Given the description of an element on the screen output the (x, y) to click on. 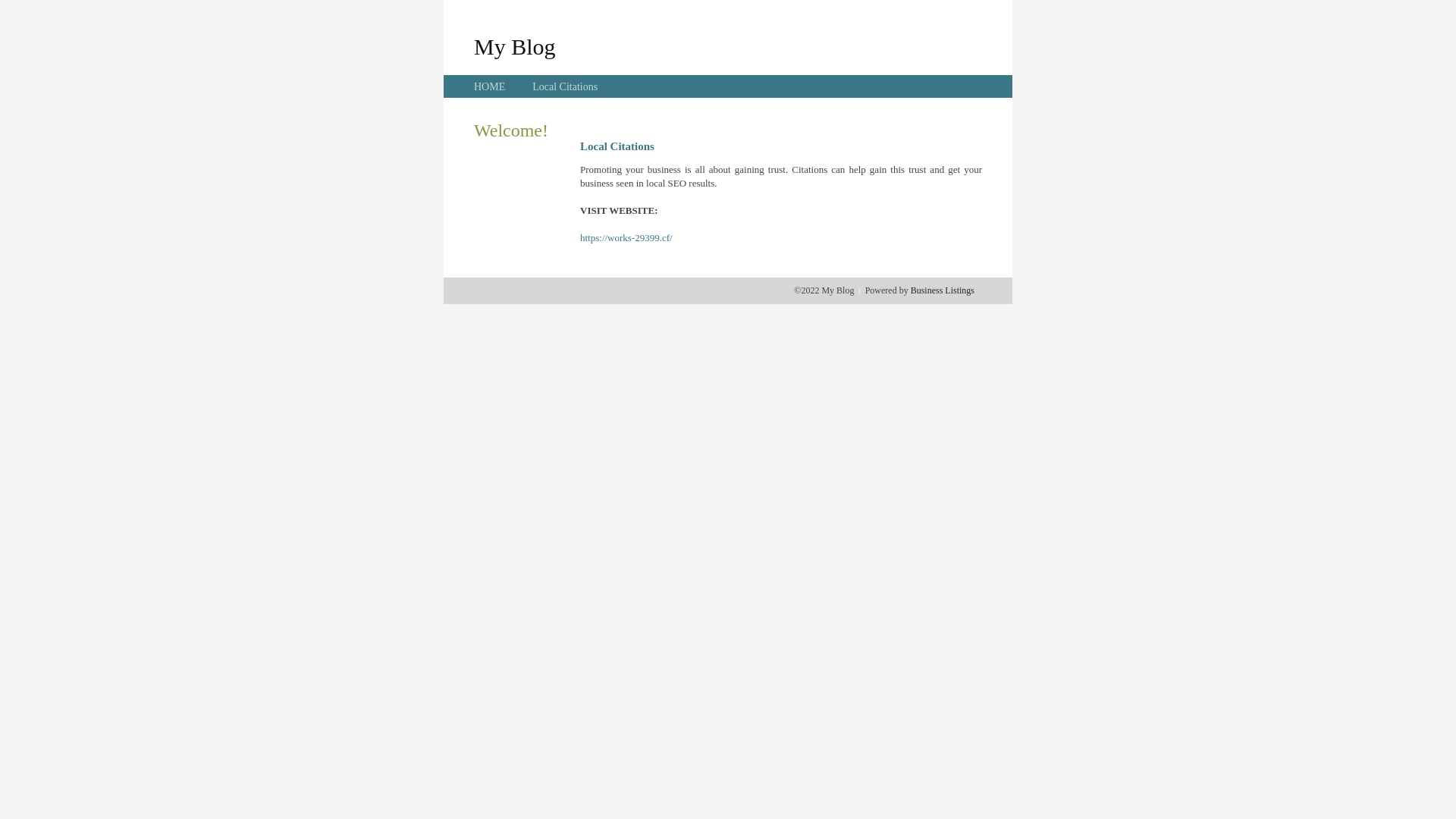
HOME Element type: text (489, 86)
My Blog Element type: text (514, 46)
Local Citations Element type: text (564, 86)
https://works-29399.cf/ Element type: text (626, 237)
Business Listings Element type: text (942, 290)
